Given the description of an element on the screen output the (x, y) to click on. 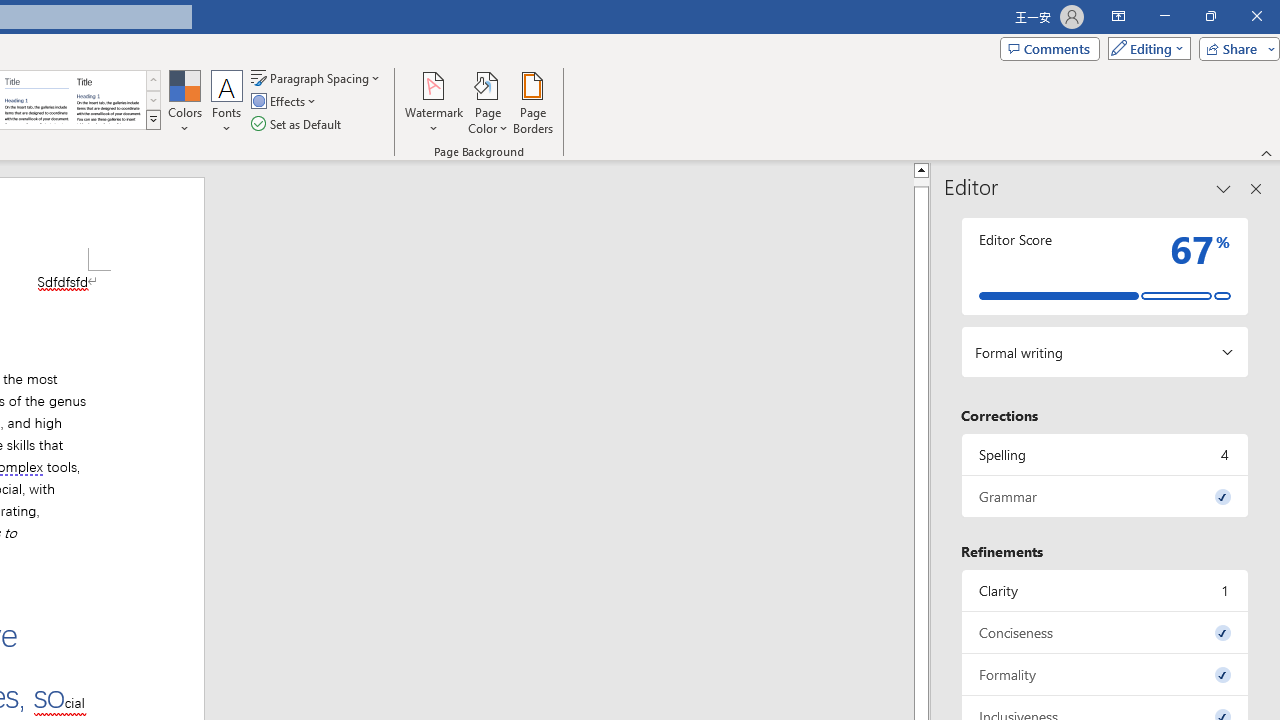
Set as Default (298, 124)
Paragraph Spacing (317, 78)
Colors (184, 102)
Clarity, 1 issue. Press space or enter to review items. (1105, 590)
Conciseness, 0 issues. Press space or enter to review items. (1105, 632)
Editor Score 67% (1105, 266)
Formality, 0 issues. Press space or enter to review items. (1105, 673)
Effects (285, 101)
